Given the description of an element on the screen output the (x, y) to click on. 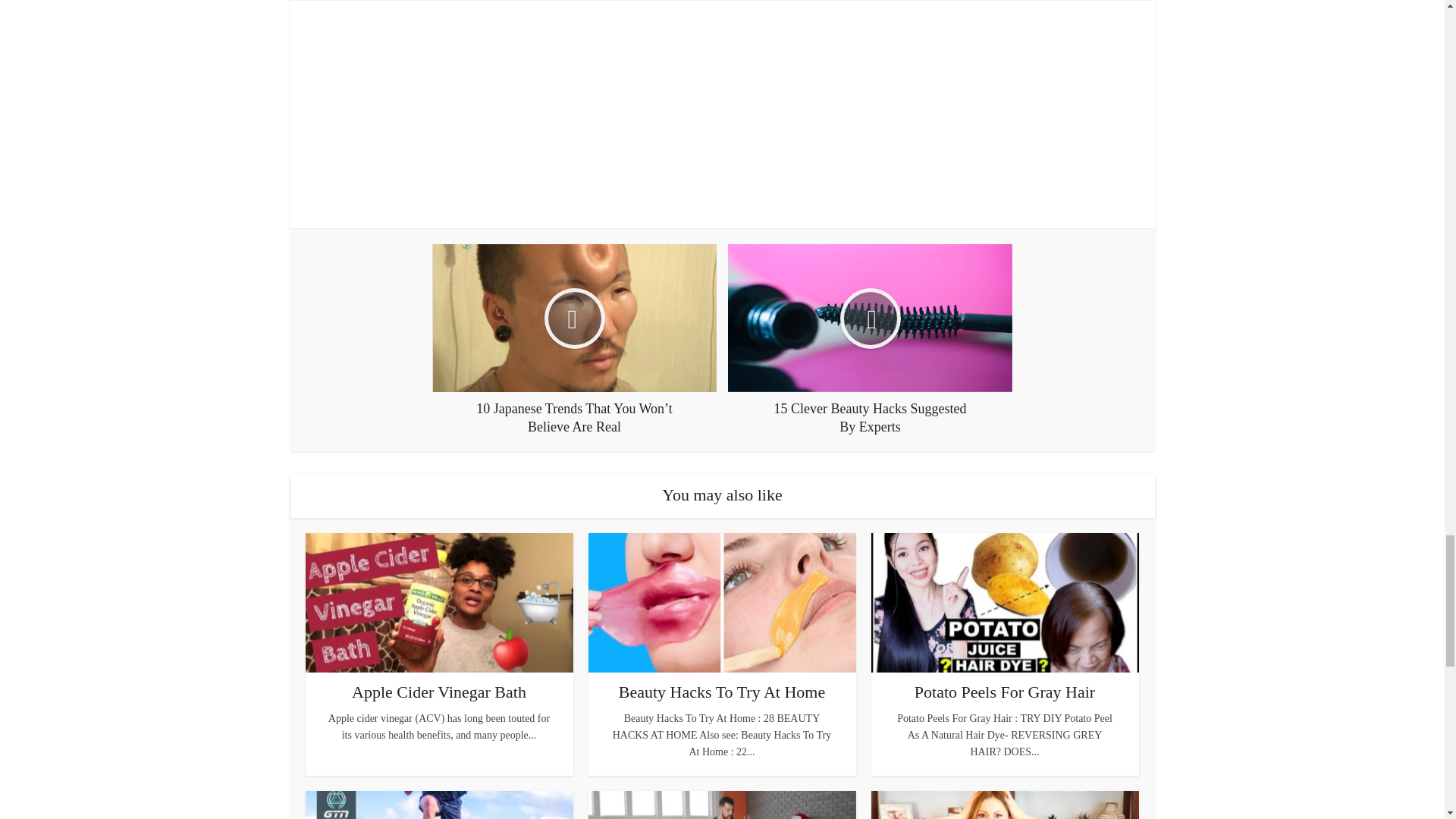
Potato Peels For Gray Hair (1004, 691)
Apple Cider Vinegar Bath (438, 691)
Beauty Hacks To Try At Home (721, 691)
Beauty Hacks To Try At Home (721, 691)
Potato Peels For Gray Hair (1004, 691)
15 Clever Beauty Hacks Suggested By Experts (869, 339)
Apple Cider Vinegar Bath (438, 691)
